Given the description of an element on the screen output the (x, y) to click on. 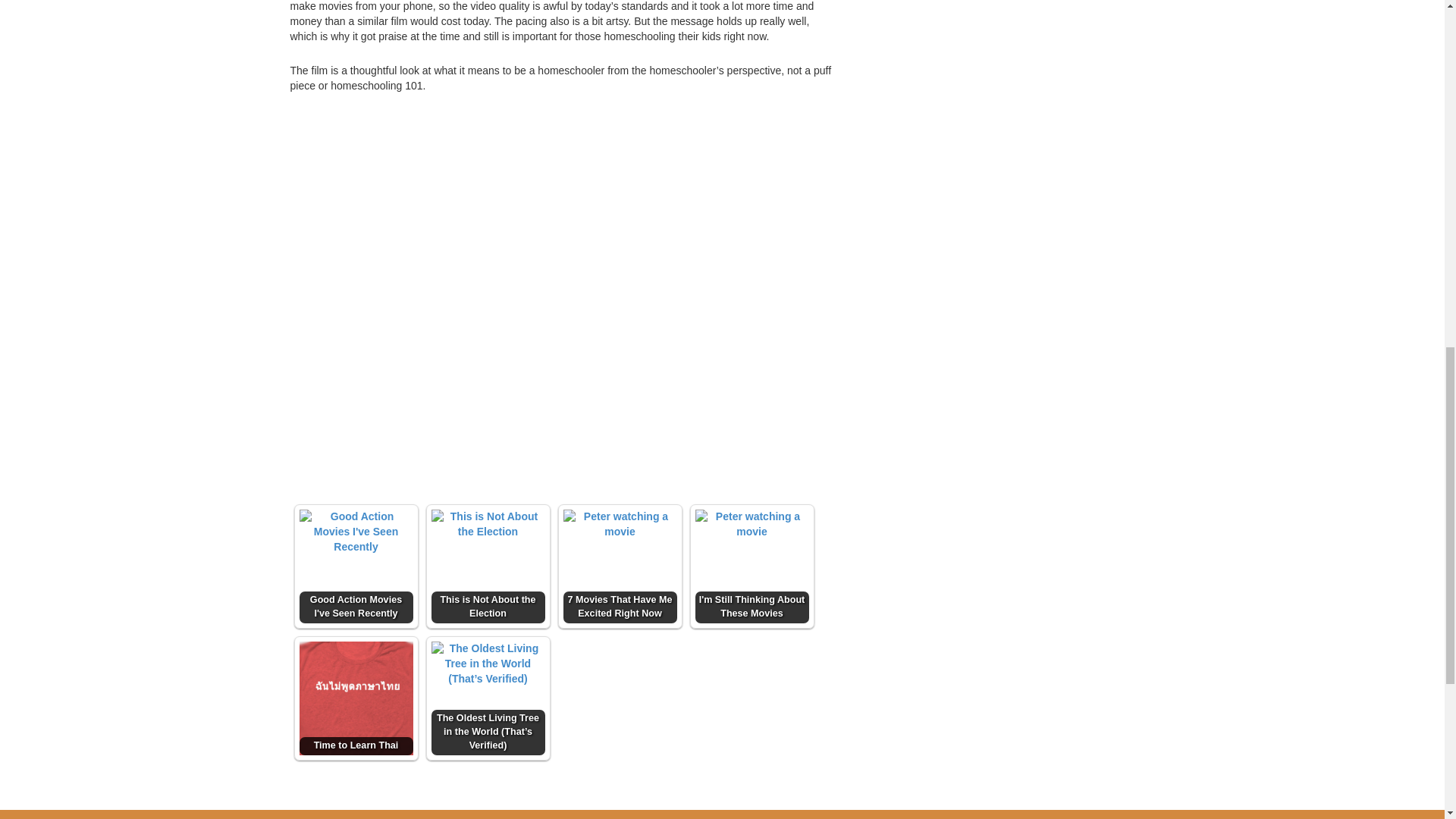
This is Not About the Election (487, 566)
7 Movies That Have Me Excited Right Now (619, 566)
I'm Still Thinking About These Movies (751, 566)
Time to Learn Thai (355, 698)
Good Action Movies I've Seen Recently (355, 566)
